Given the description of an element on the screen output the (x, y) to click on. 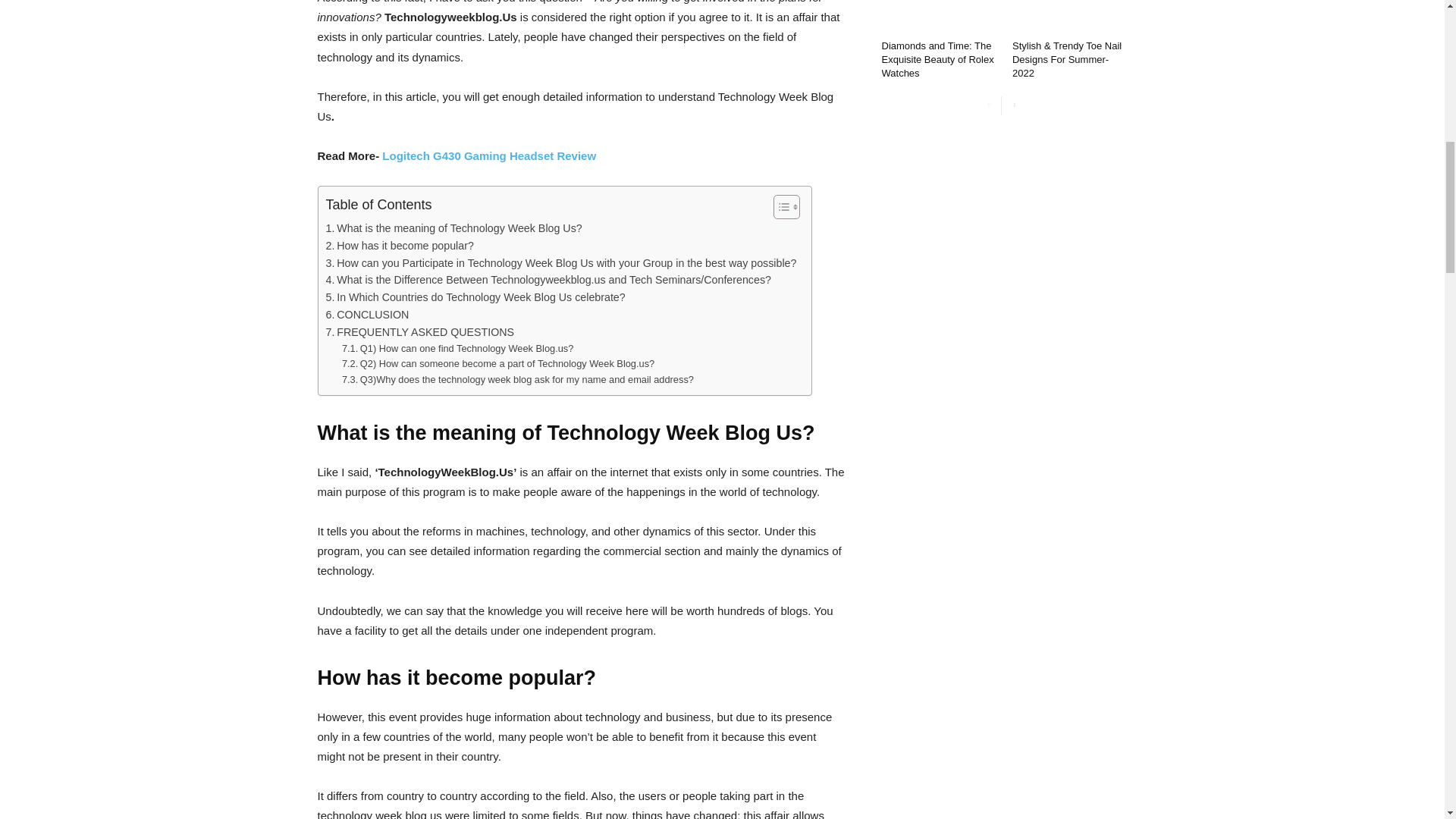
How has it become popular? (400, 245)
What is the meaning of Technology Week Blog Us? (454, 228)
